Given the description of an element on the screen output the (x, y) to click on. 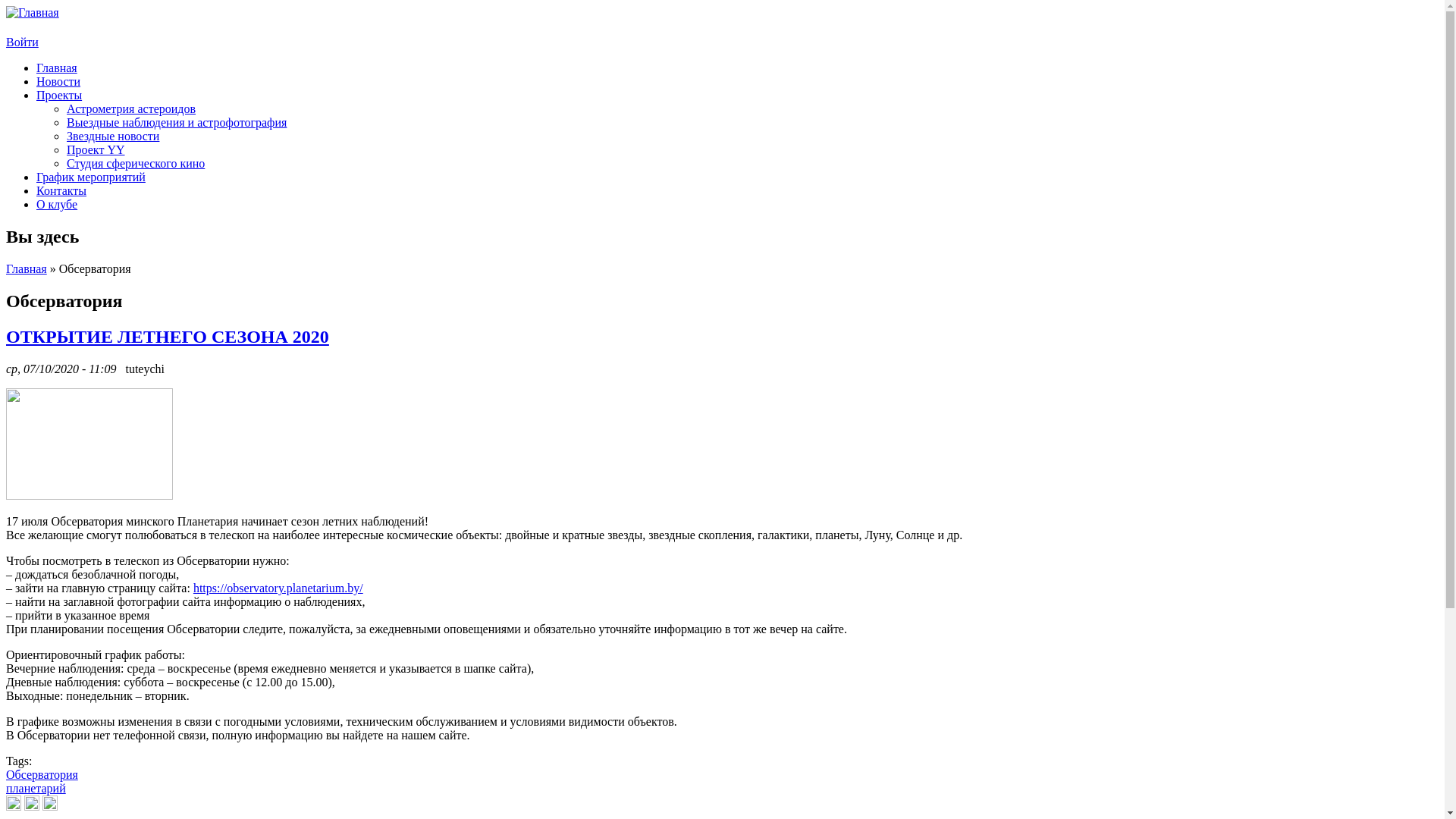
https://observatory.planetarium.by/ Element type: text (278, 587)
